Given the description of an element on the screen output the (x, y) to click on. 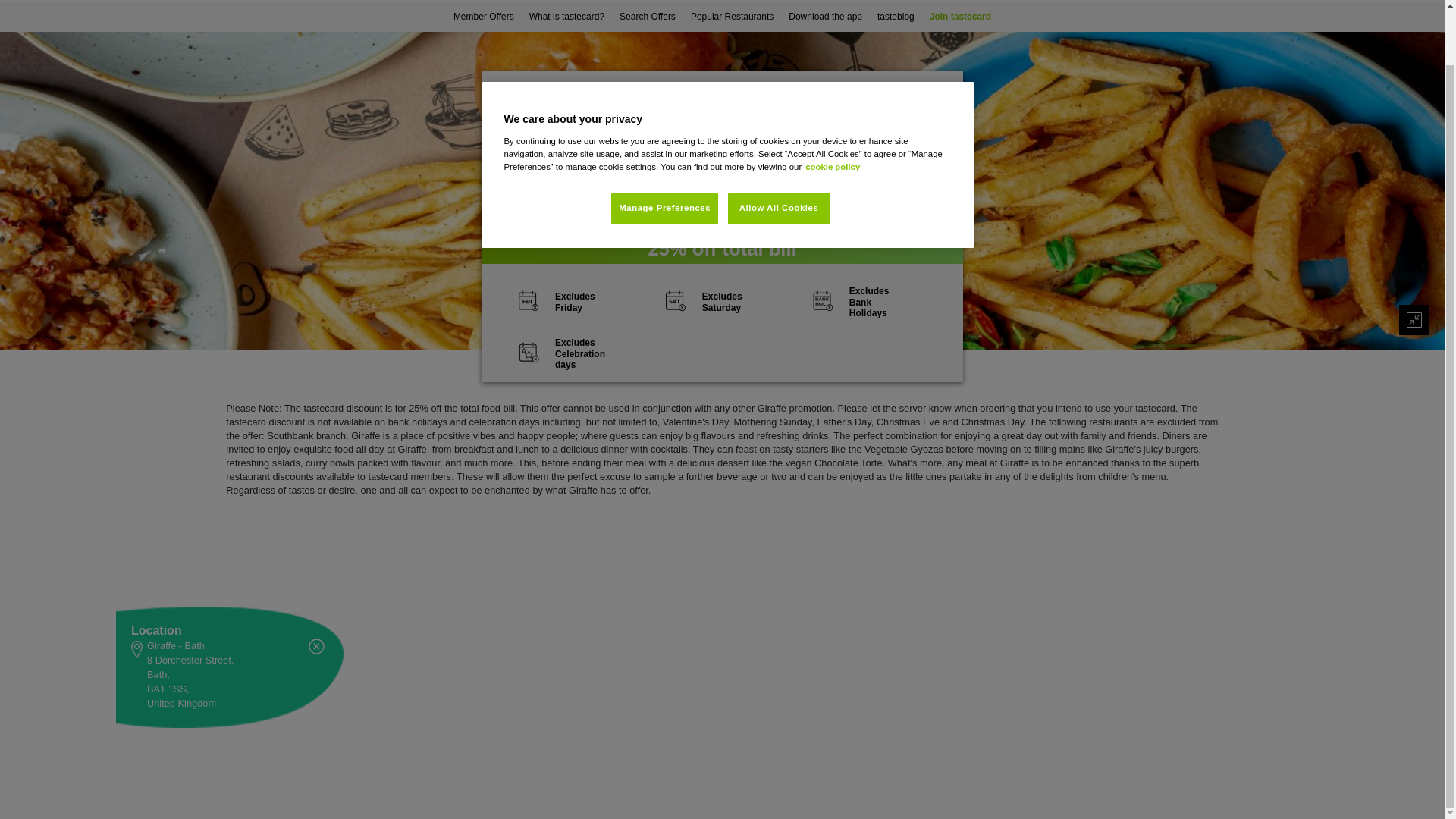
Search Offers (646, 16)
Member Offers (483, 16)
What is tastecard? (566, 16)
Popular Restaurants (731, 16)
